Given the description of an element on the screen output the (x, y) to click on. 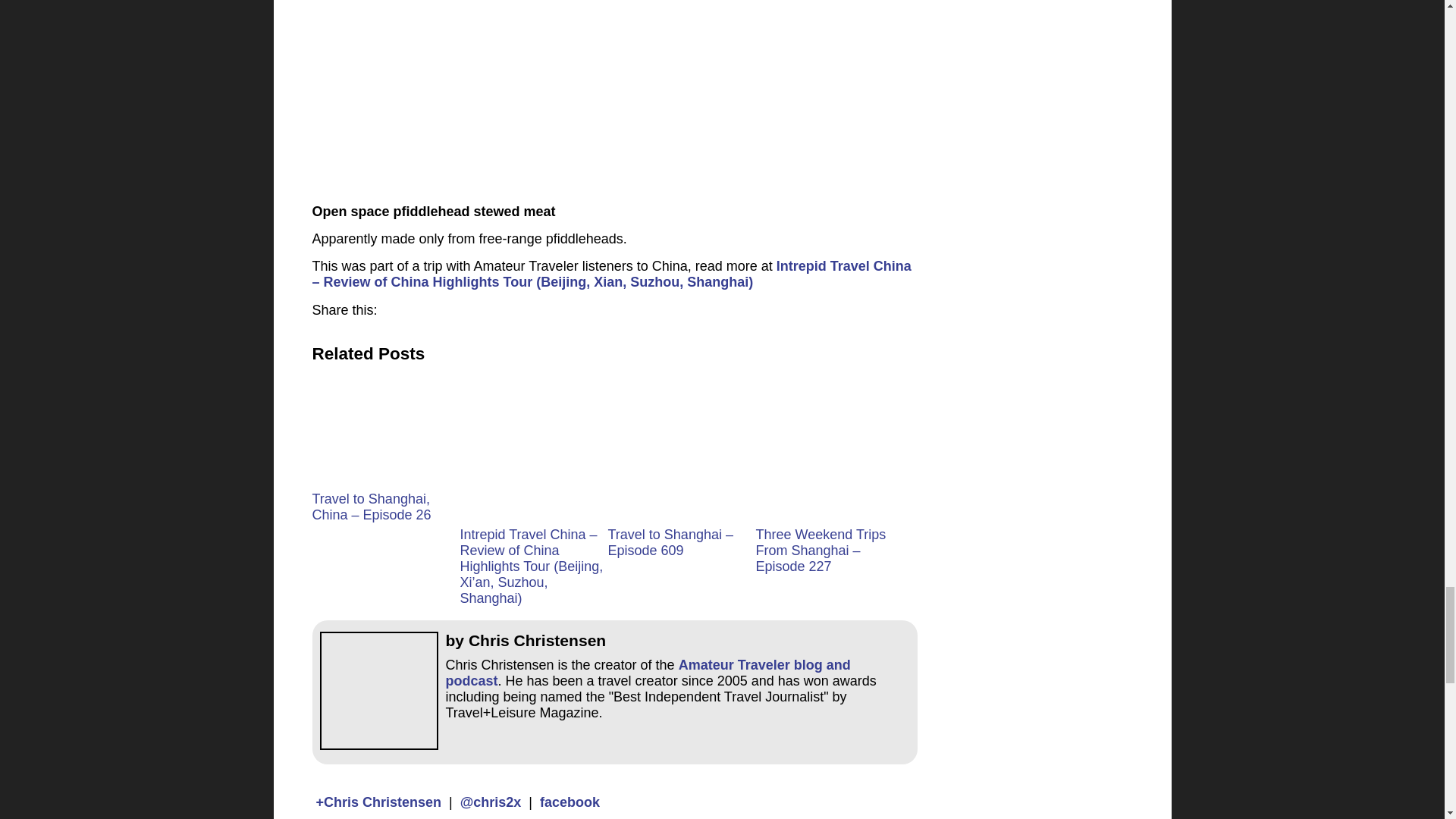
facebook (569, 802)
Amateur Traveler blog and podcast (647, 672)
